Given the description of an element on the screen output the (x, y) to click on. 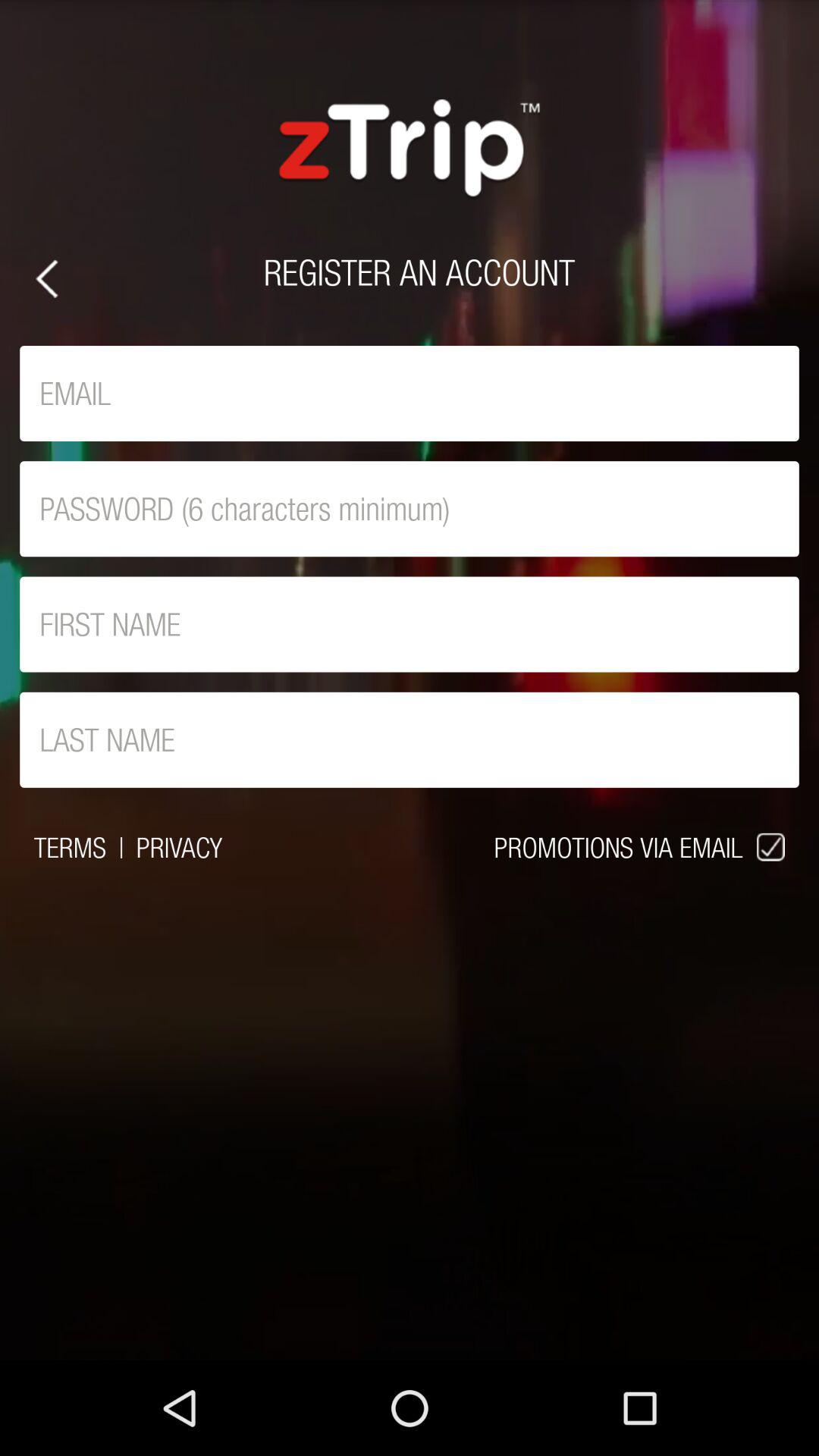
select the terms item (70, 847)
